Given the description of an element on the screen output the (x, y) to click on. 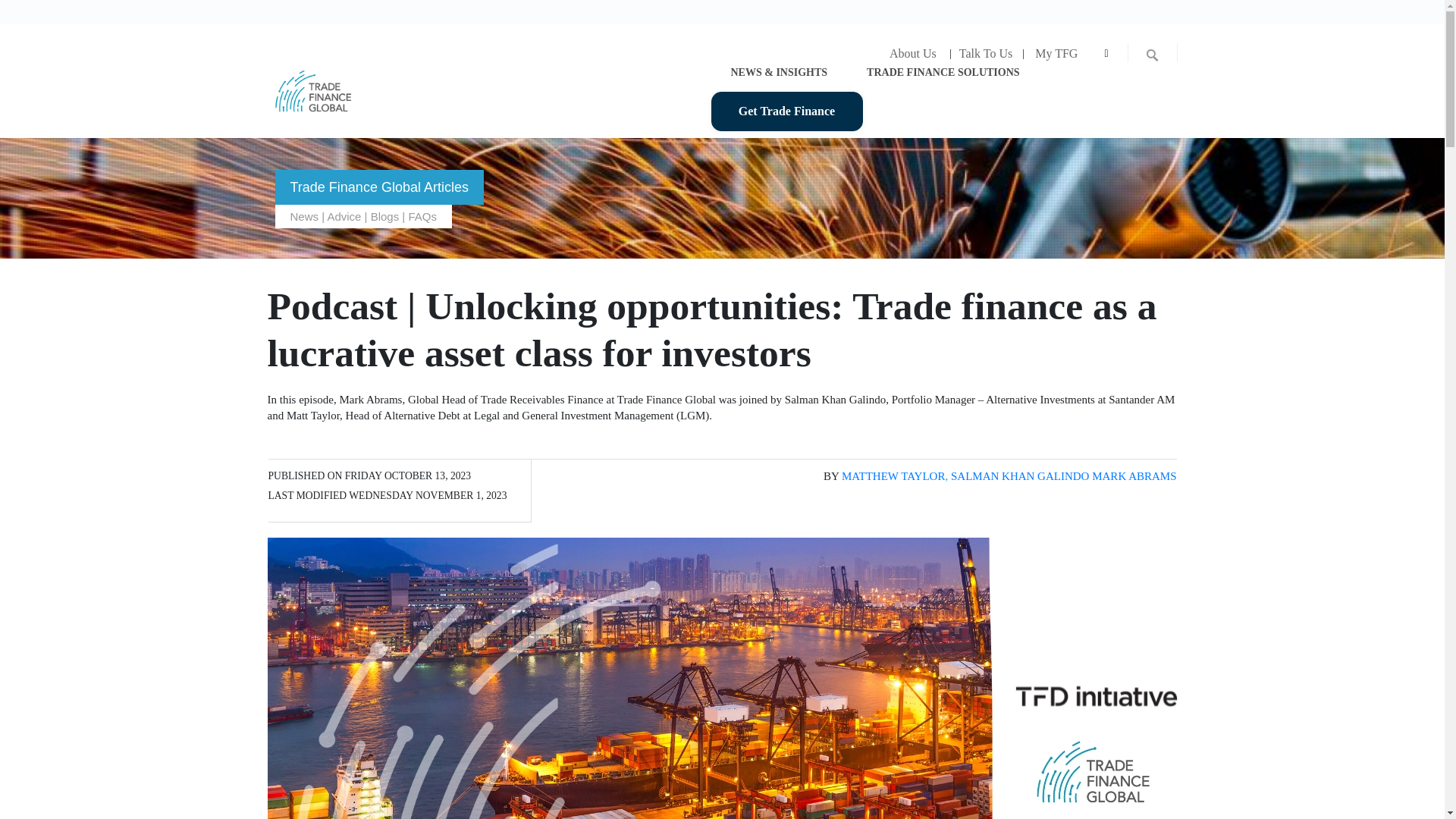
Search (13, 10)
Posts by Matthew Taylor (892, 476)
Talk To Us (985, 52)
. (1106, 55)
My TFG (1056, 52)
About Us (912, 52)
